Given the description of an element on the screen output the (x, y) to click on. 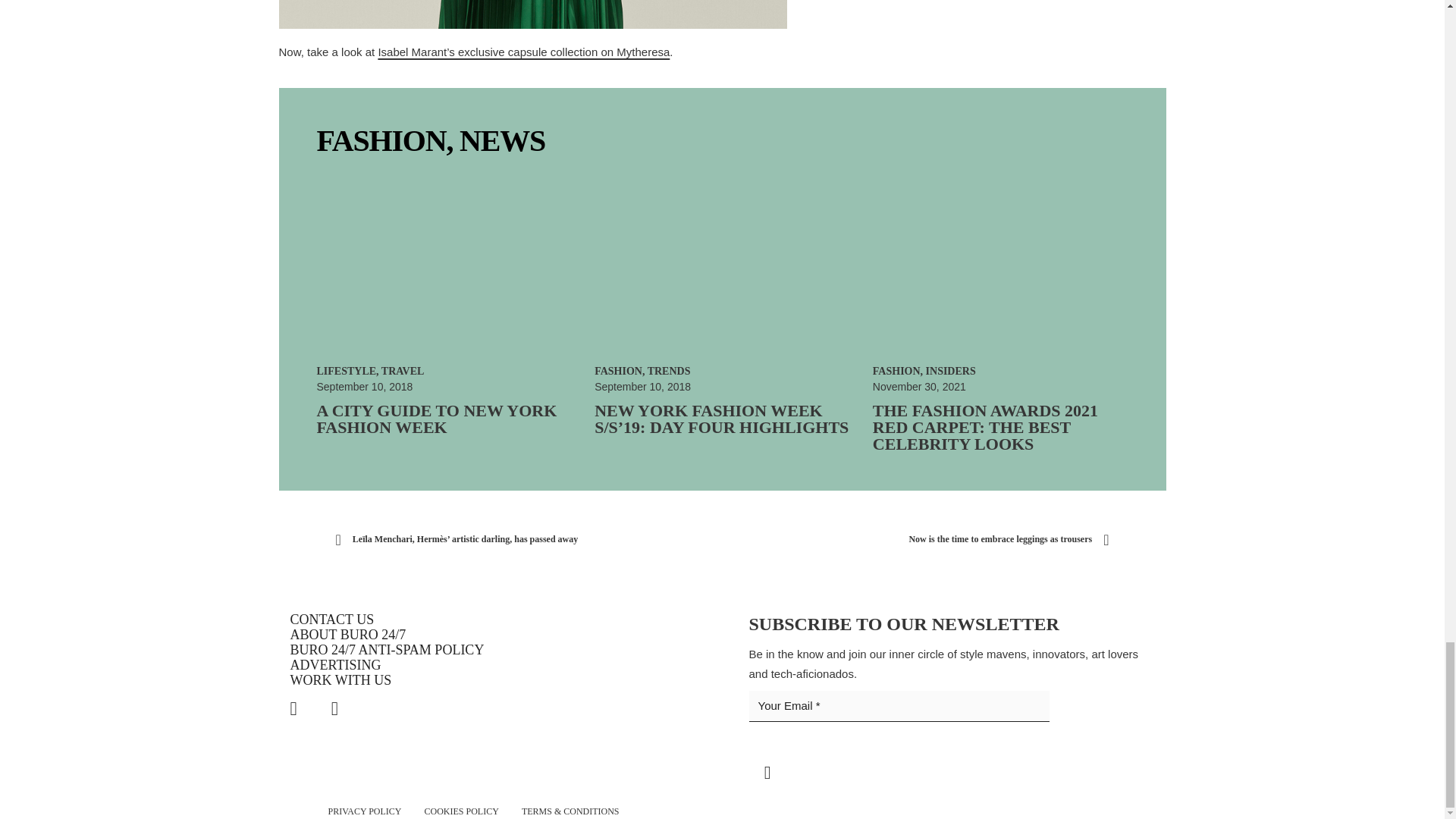
NEWS (502, 140)
LIFESTYLE (347, 370)
FASHION (381, 140)
